Given the description of an element on the screen output the (x, y) to click on. 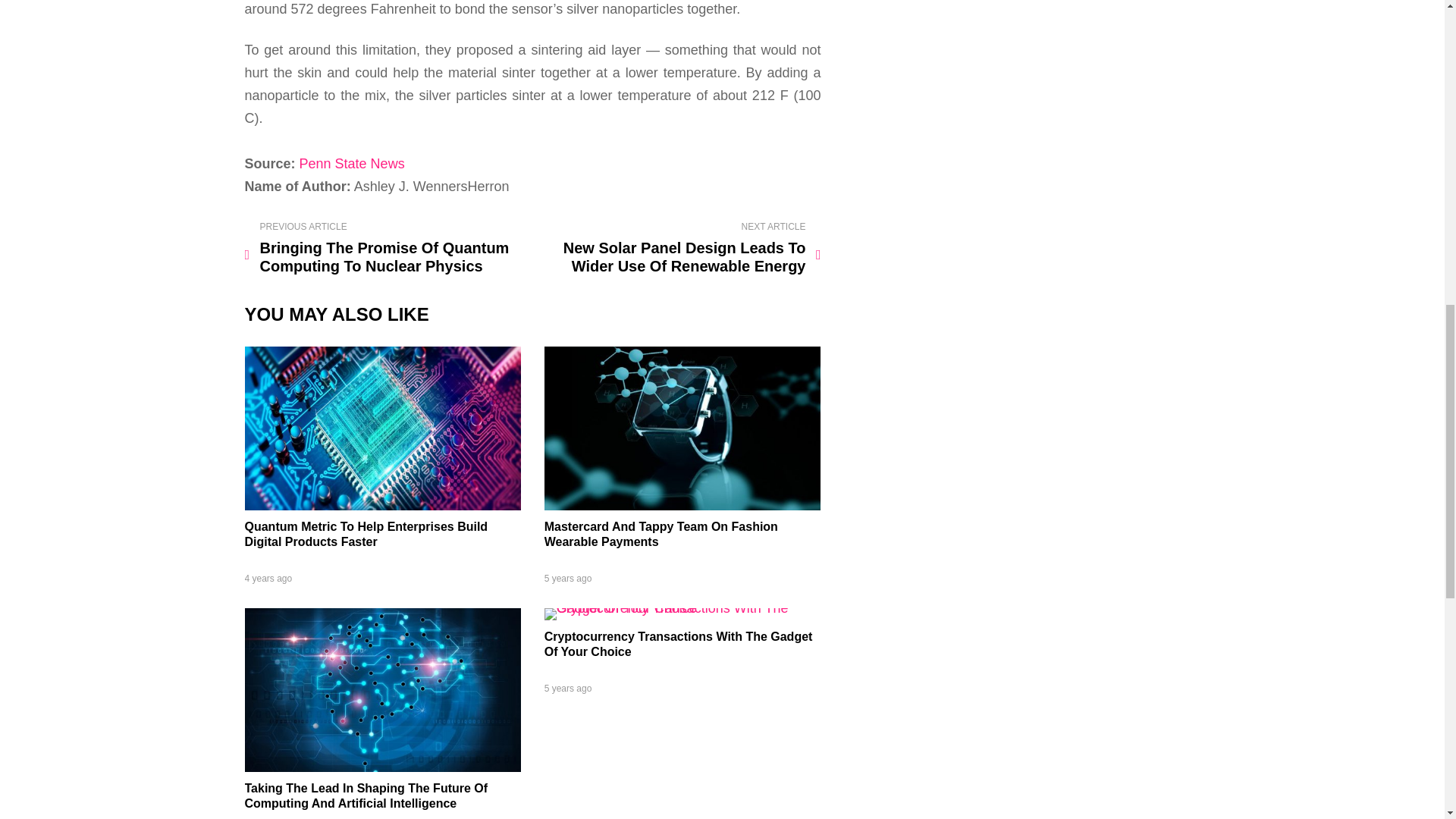
Cryptocurrency Transactions With The Gadget Of Your Choice (682, 607)
Mastercard And Tappy Team On Fashion Wearable Payments (660, 533)
Bringing The Promise Of Quantum Computing To Nuclear Physics (384, 248)
Cryptocurrency Transactions With The Gadget Of Your Choice (678, 643)
Mastercard And Tappy Team On Fashion Wearable Payments (682, 505)
